Given the description of an element on the screen output the (x, y) to click on. 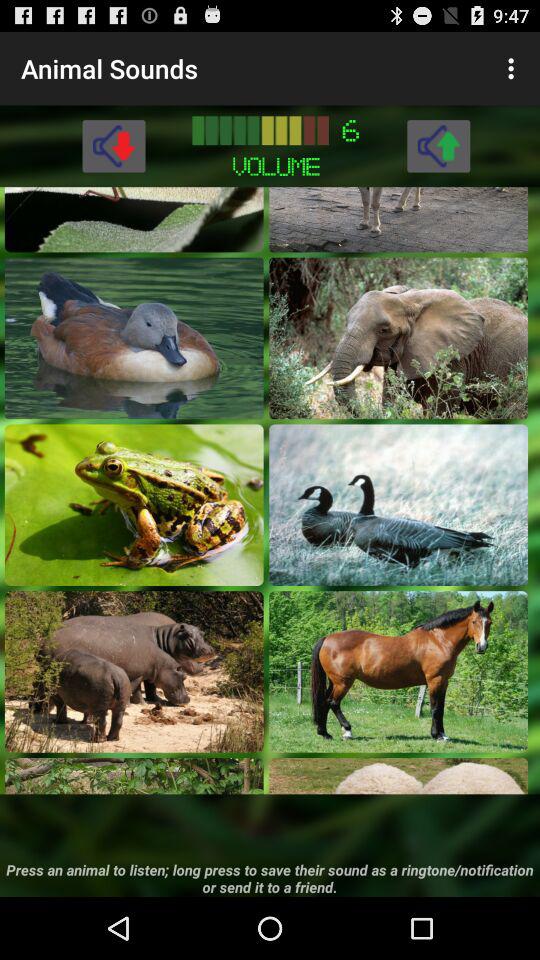
frog picture (133, 504)
